Given the description of an element on the screen output the (x, y) to click on. 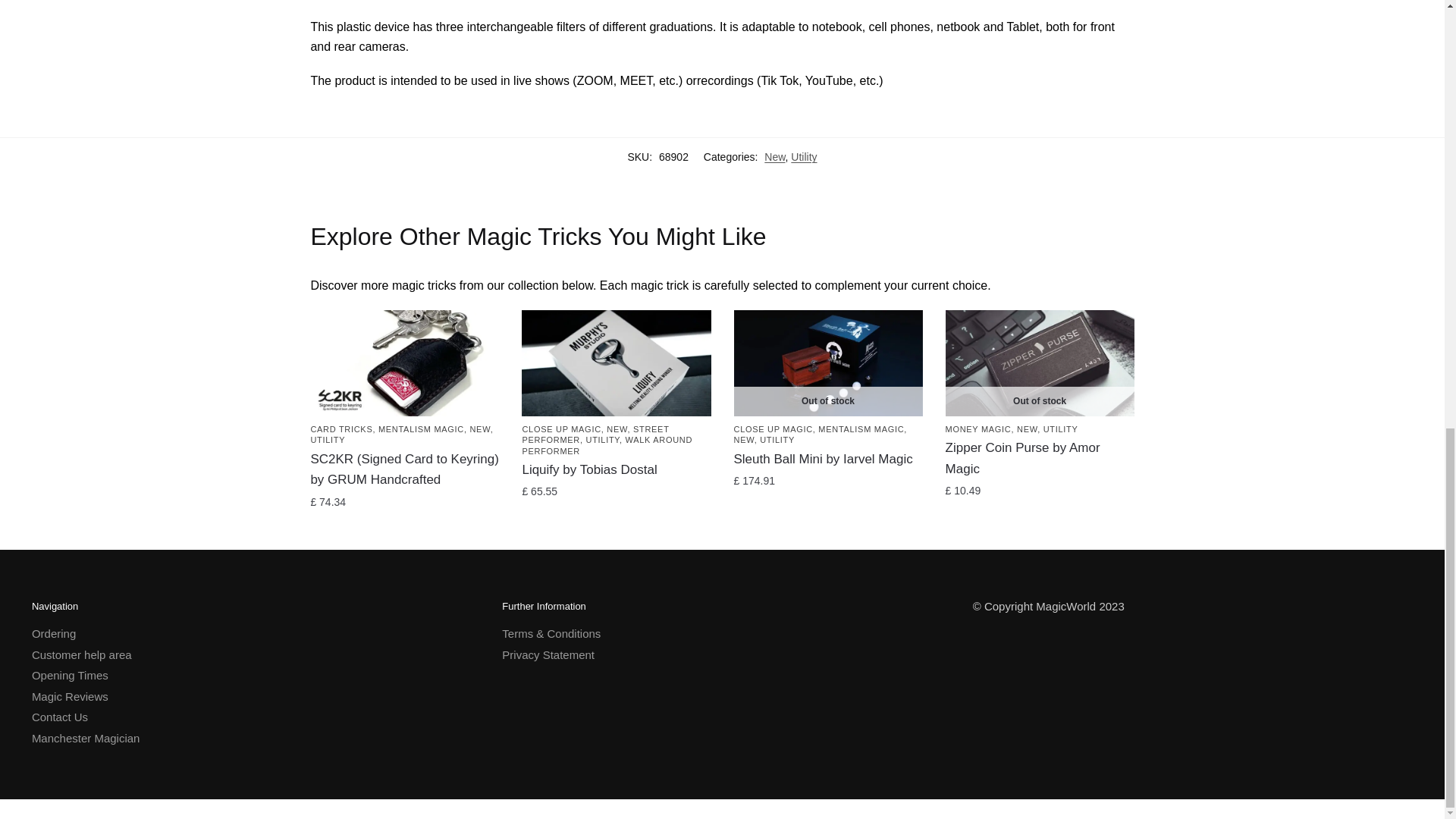
Liquify by Tobias Dostal (615, 363)
Sleuth Ball Mini by Iarvel Magic (828, 363)
Zipper Coin Purse by Amor Magic (1039, 363)
